Given the description of an element on the screen output the (x, y) to click on. 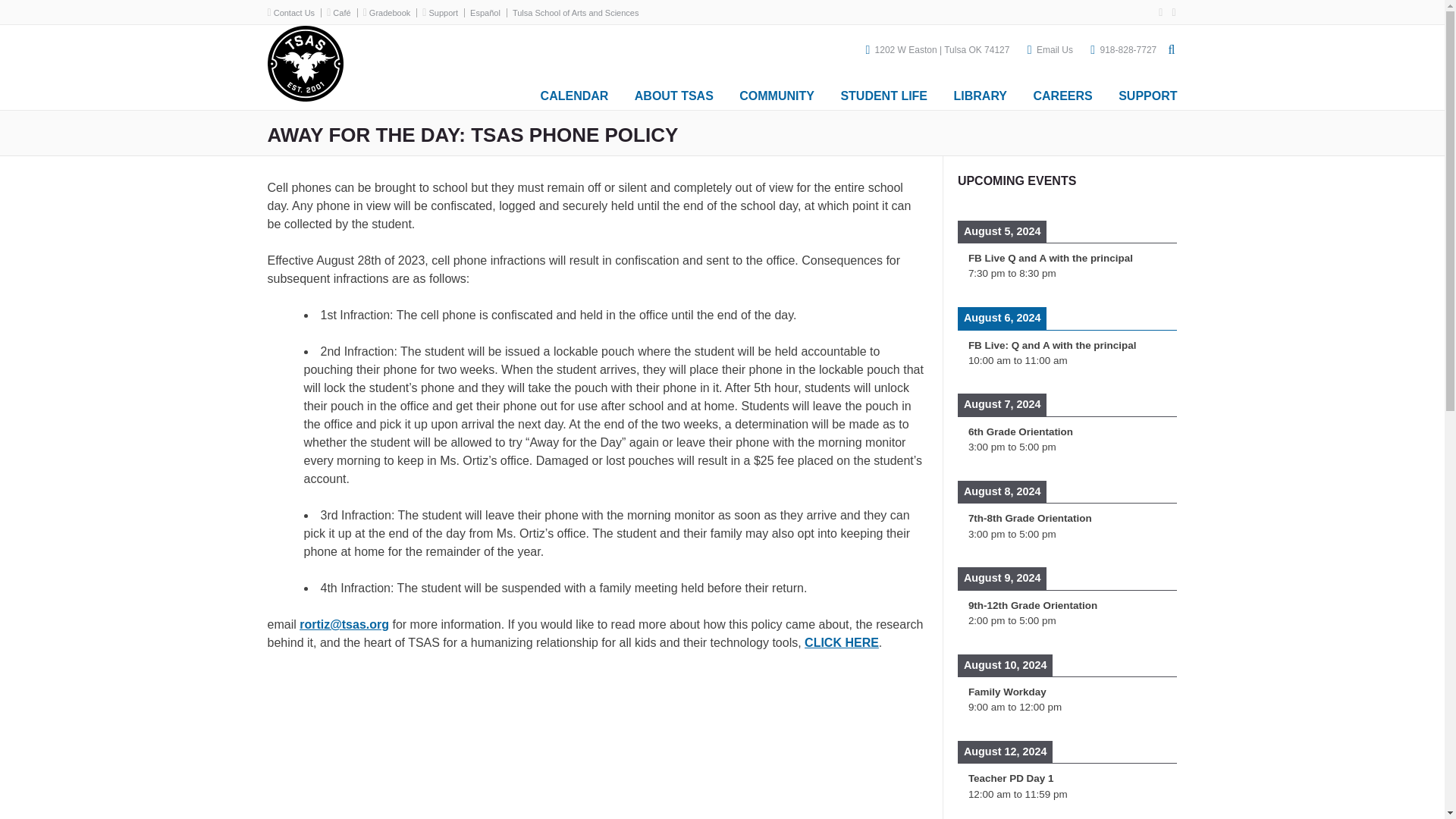
Support (443, 12)
CALENDAR (574, 89)
Follow Us on Twitter (1169, 12)
ABOUT TSAS (674, 89)
Contact Us (293, 12)
Tulsa School of Arts and Sciences (304, 97)
COMMUNITY (776, 89)
Search for: (1015, 85)
